Given the description of an element on the screen output the (x, y) to click on. 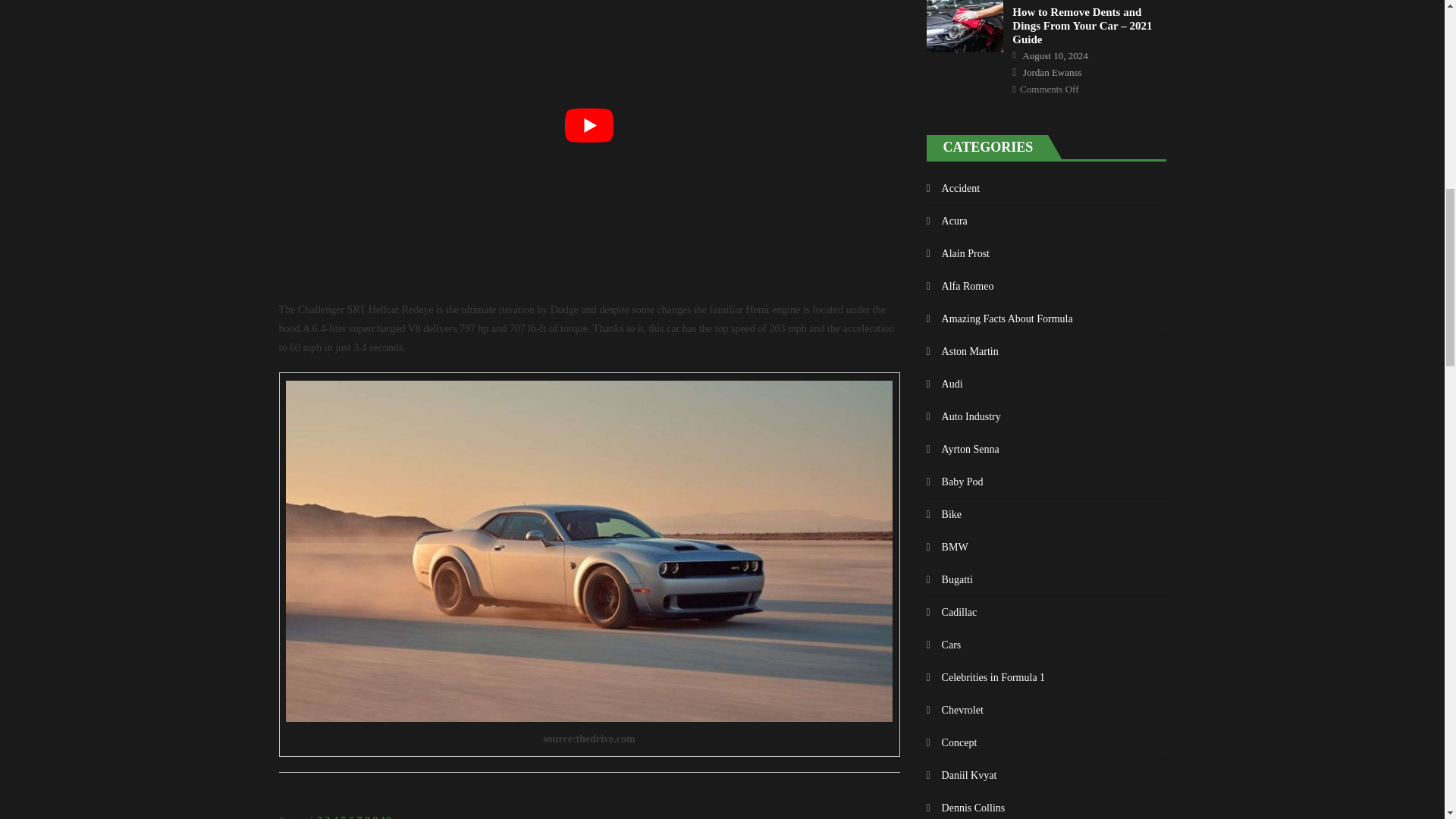
10 (385, 816)
